Given the description of an element on the screen output the (x, y) to click on. 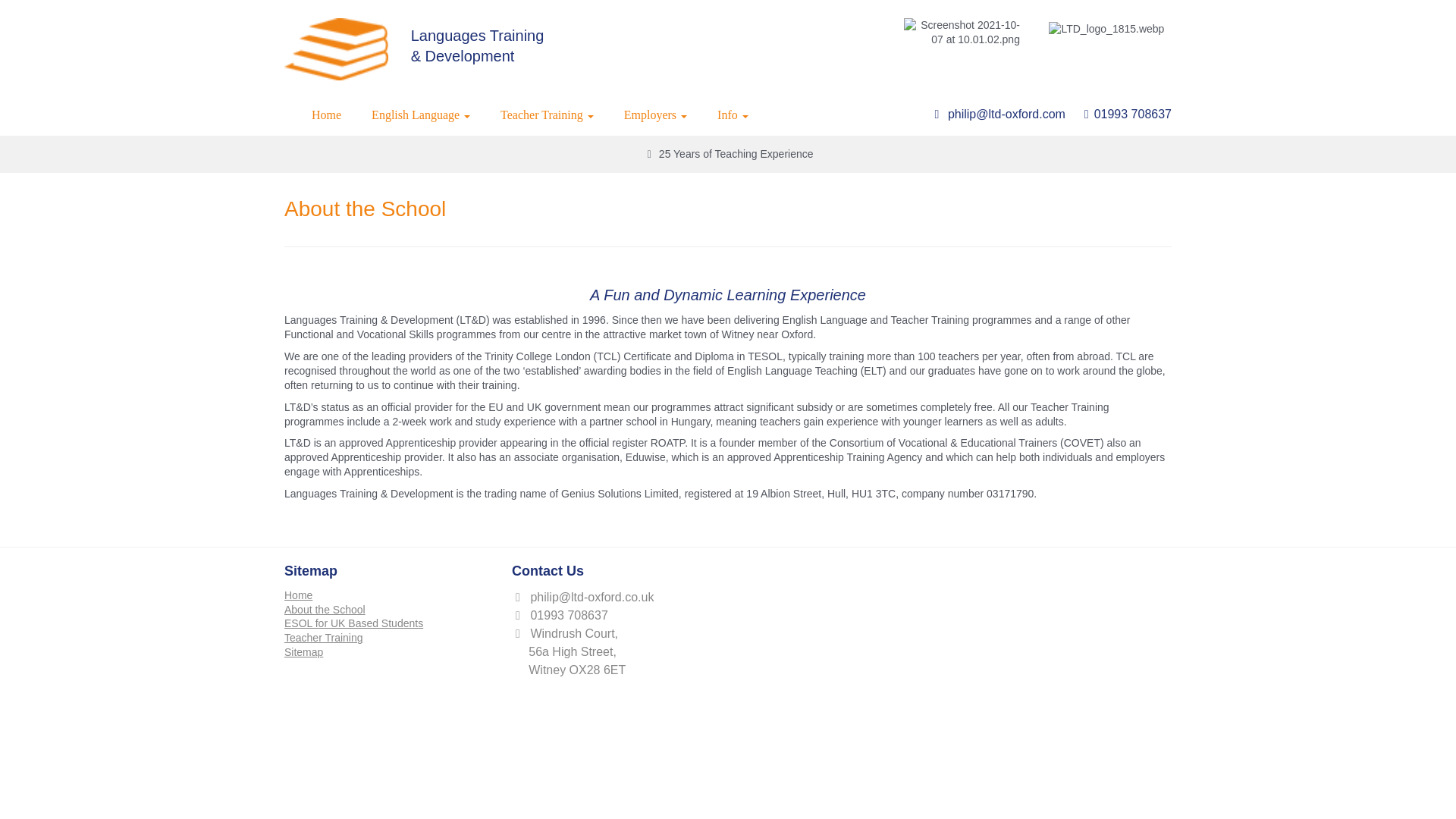
Info (731, 115)
Teacher Training (546, 115)
Home (298, 594)
Employers (654, 115)
English Language (420, 115)
01993 708637 (1133, 113)
Home (326, 115)
